Given the description of an element on the screen output the (x, y) to click on. 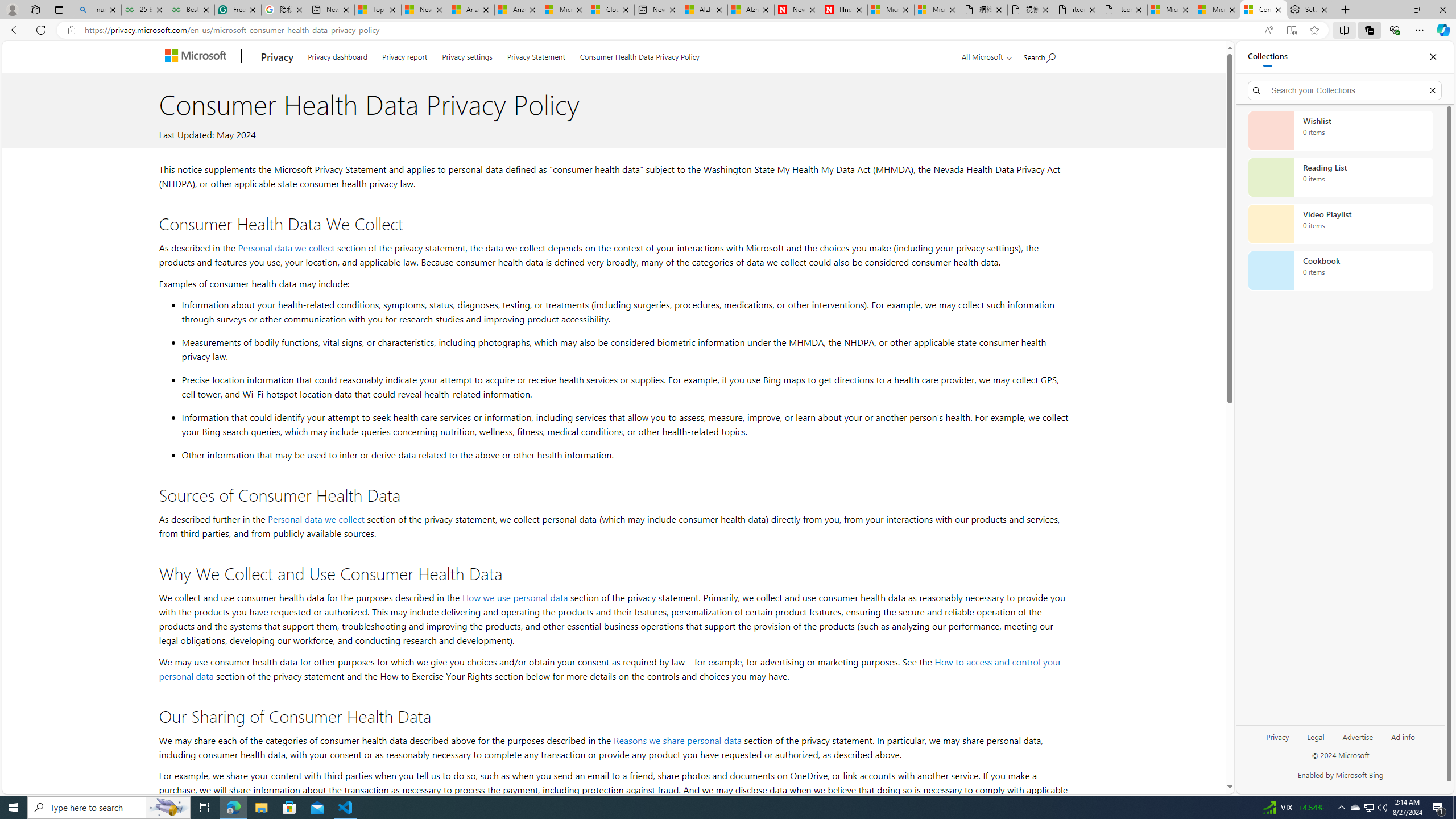
Enter Immersive Reader (F9) (1291, 29)
Reasons we share personal data (676, 739)
Privacy settings (466, 54)
Newsweek - News, Analysis, Politics, Business, Technology (797, 9)
Privacy dashboard (337, 54)
Ad info (1402, 741)
How we use personal data (514, 597)
25 Basic Linux Commands For Beginners - GeeksforGeeks (144, 9)
Personal data we collect (315, 518)
